Given the description of an element on the screen output the (x, y) to click on. 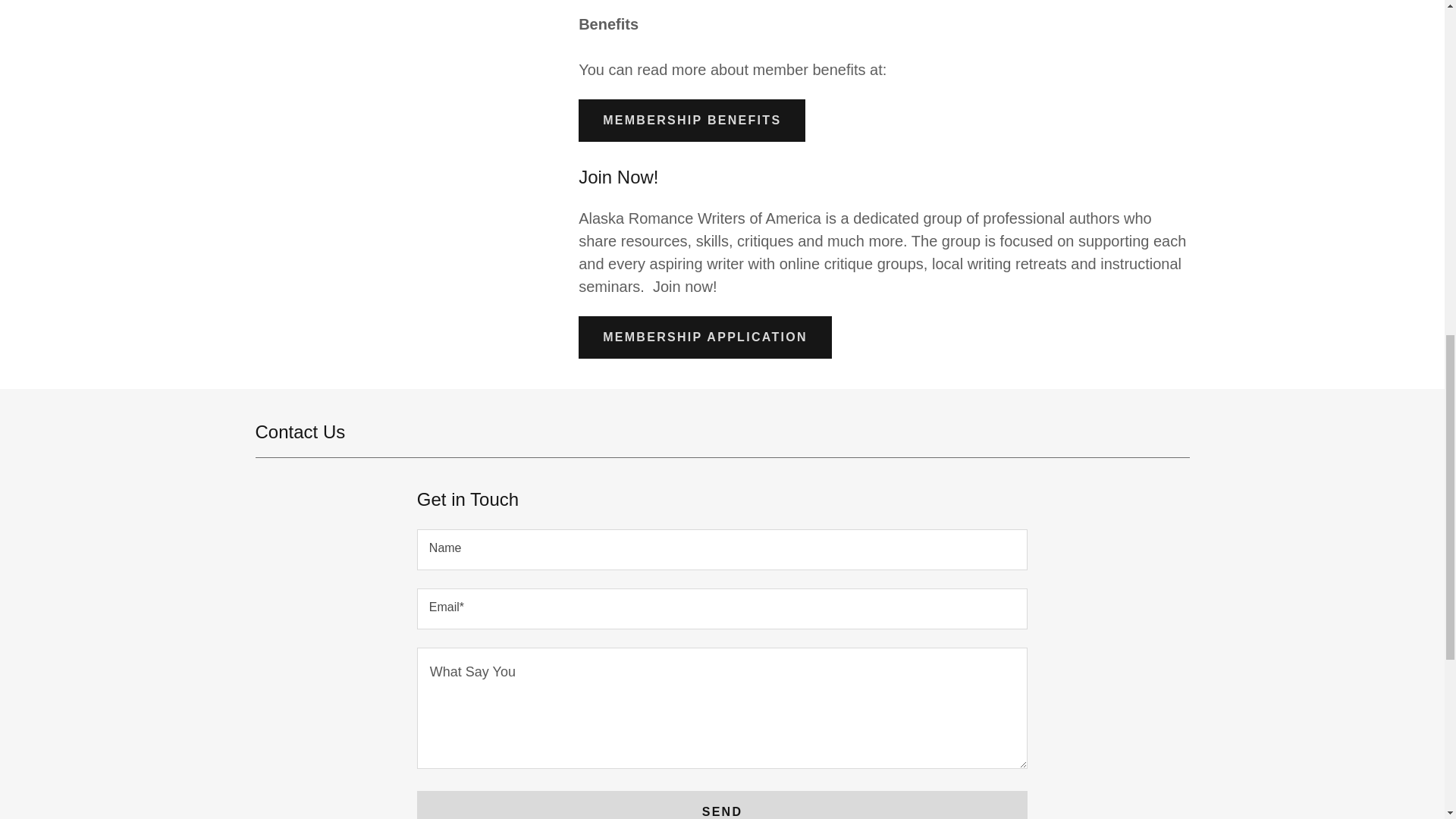
SEND (721, 805)
MEMBERSHIP APPLICATION (704, 337)
MEMBERSHIP BENEFITS (691, 120)
